Given the description of an element on the screen output the (x, y) to click on. 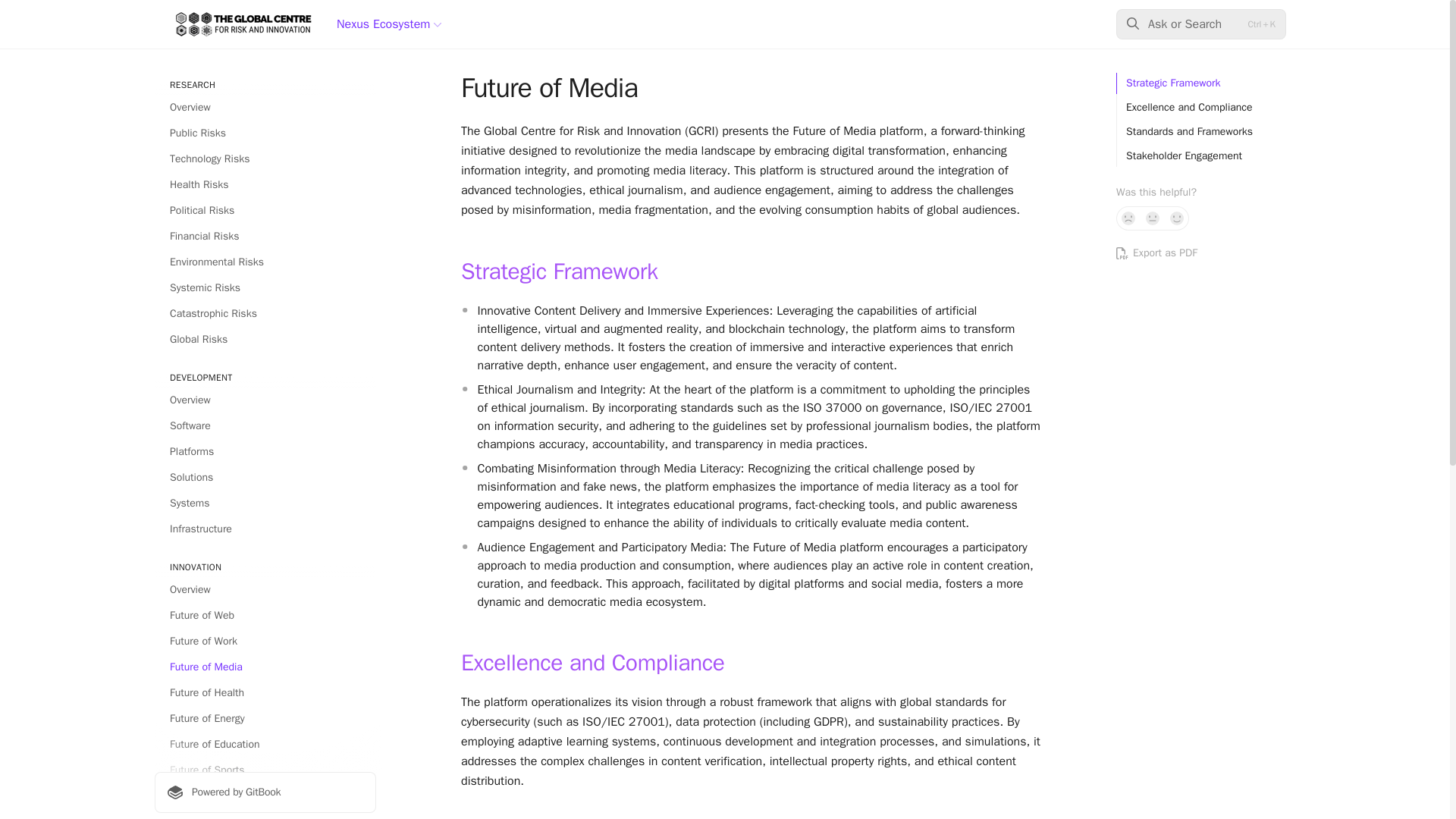
Future of Media (264, 667)
Powered by GitBook (264, 792)
Overview (264, 589)
Solutions (264, 477)
Financial Risks (264, 236)
Overview (264, 107)
Political Risks (264, 210)
Environmental Risks (264, 262)
No (1128, 218)
Platforms (264, 451)
Future of Health (264, 692)
Software (264, 426)
Global Risks (264, 339)
Public Risks (264, 133)
Future of Space (264, 795)
